Given the description of an element on the screen output the (x, y) to click on. 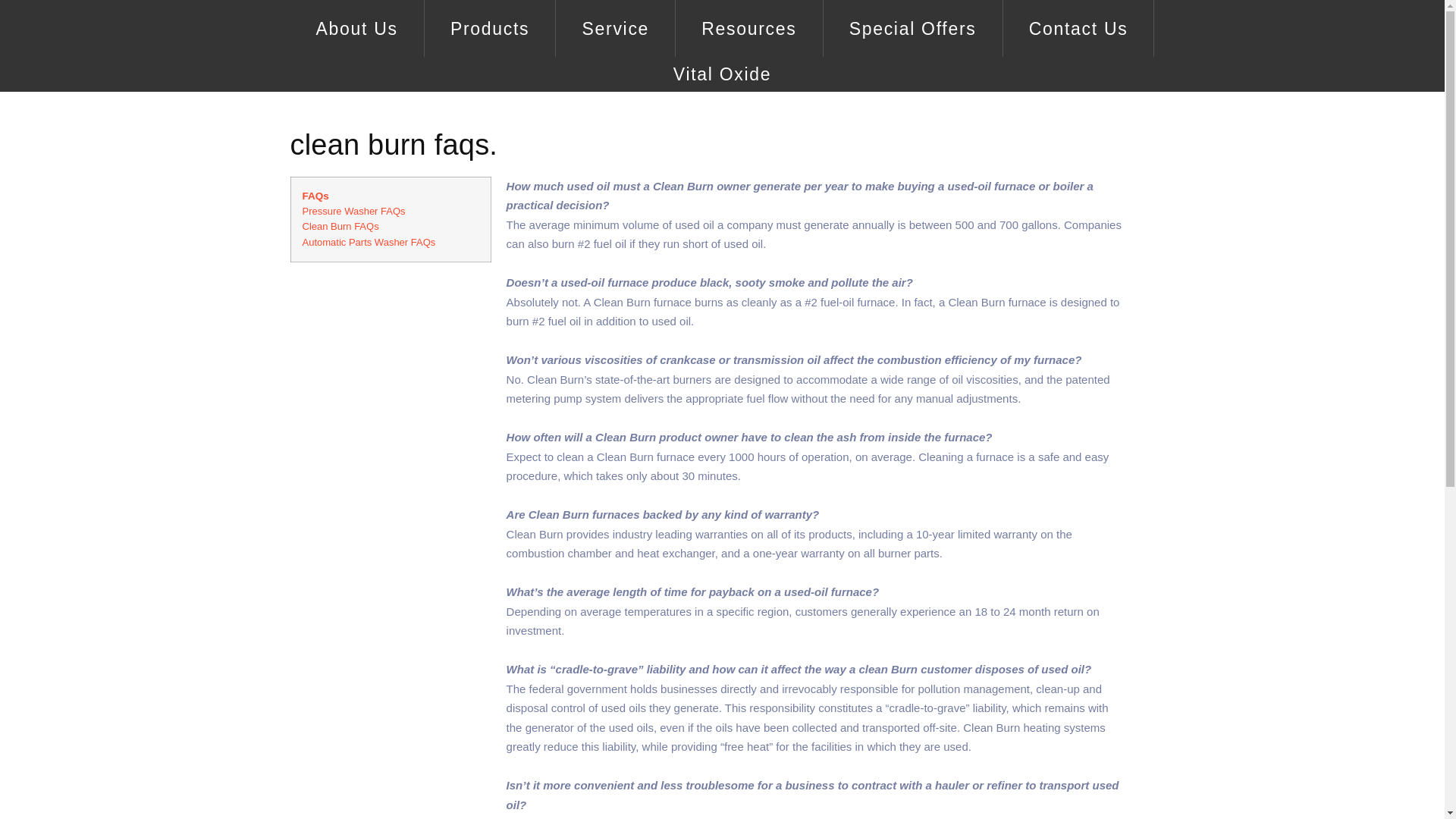
Products (490, 28)
About Us (356, 28)
